Given the description of an element on the screen output the (x, y) to click on. 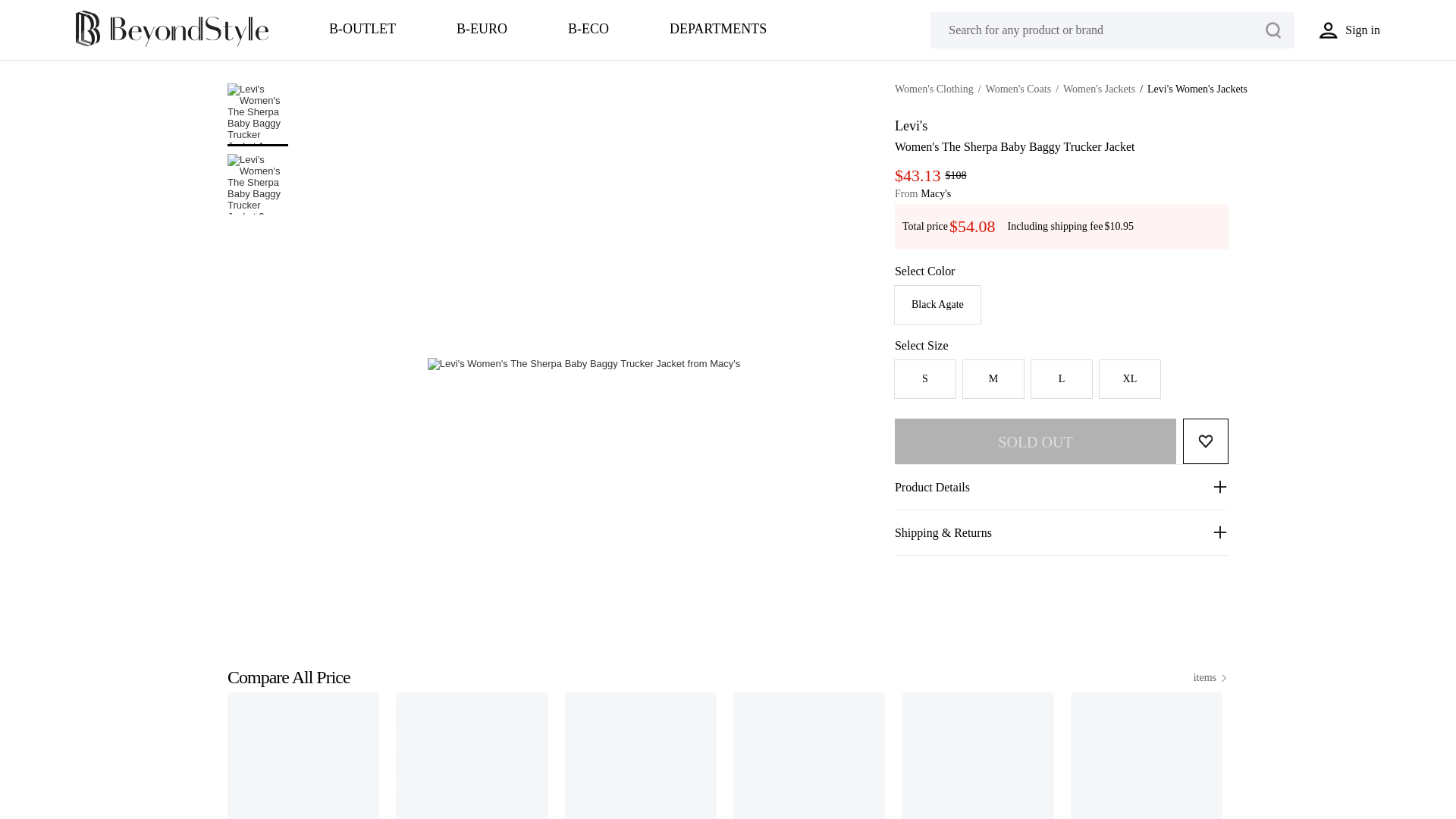
Women's Coats (1018, 89)
euro mode (481, 29)
Levi's Women's Jackets (1197, 89)
Women's Clothing (934, 89)
homepage (171, 44)
outlet mode (362, 29)
B-OUTLET (362, 29)
B-ECO (587, 29)
B-EURO (481, 29)
Women's Jackets (1098, 89)
